Given the description of an element on the screen output the (x, y) to click on. 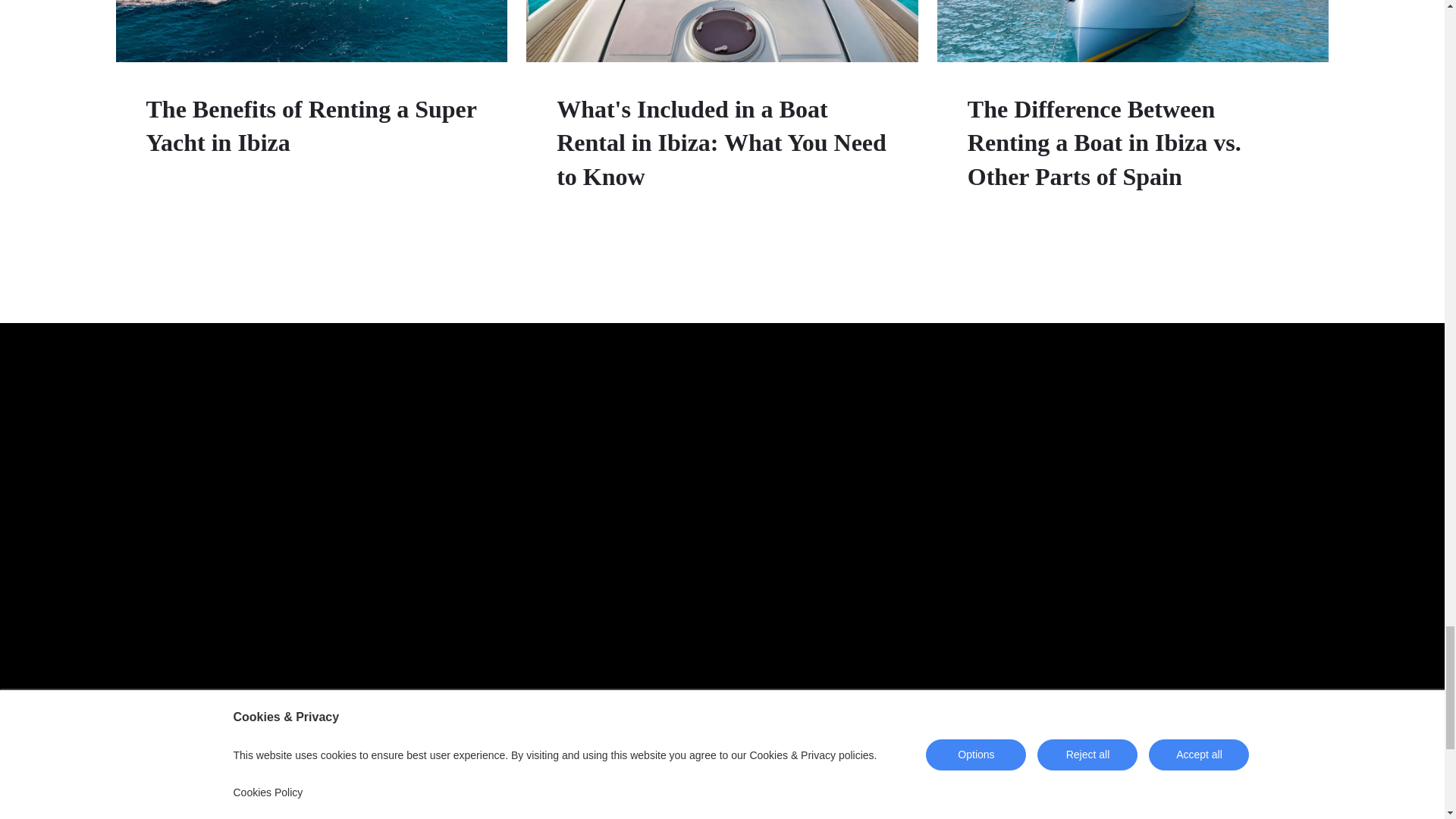
The Benefits of Renting a Super Yacht in Ibiza (310, 126)
Subscribe (1159, 800)
